Given the description of an element on the screen output the (x, y) to click on. 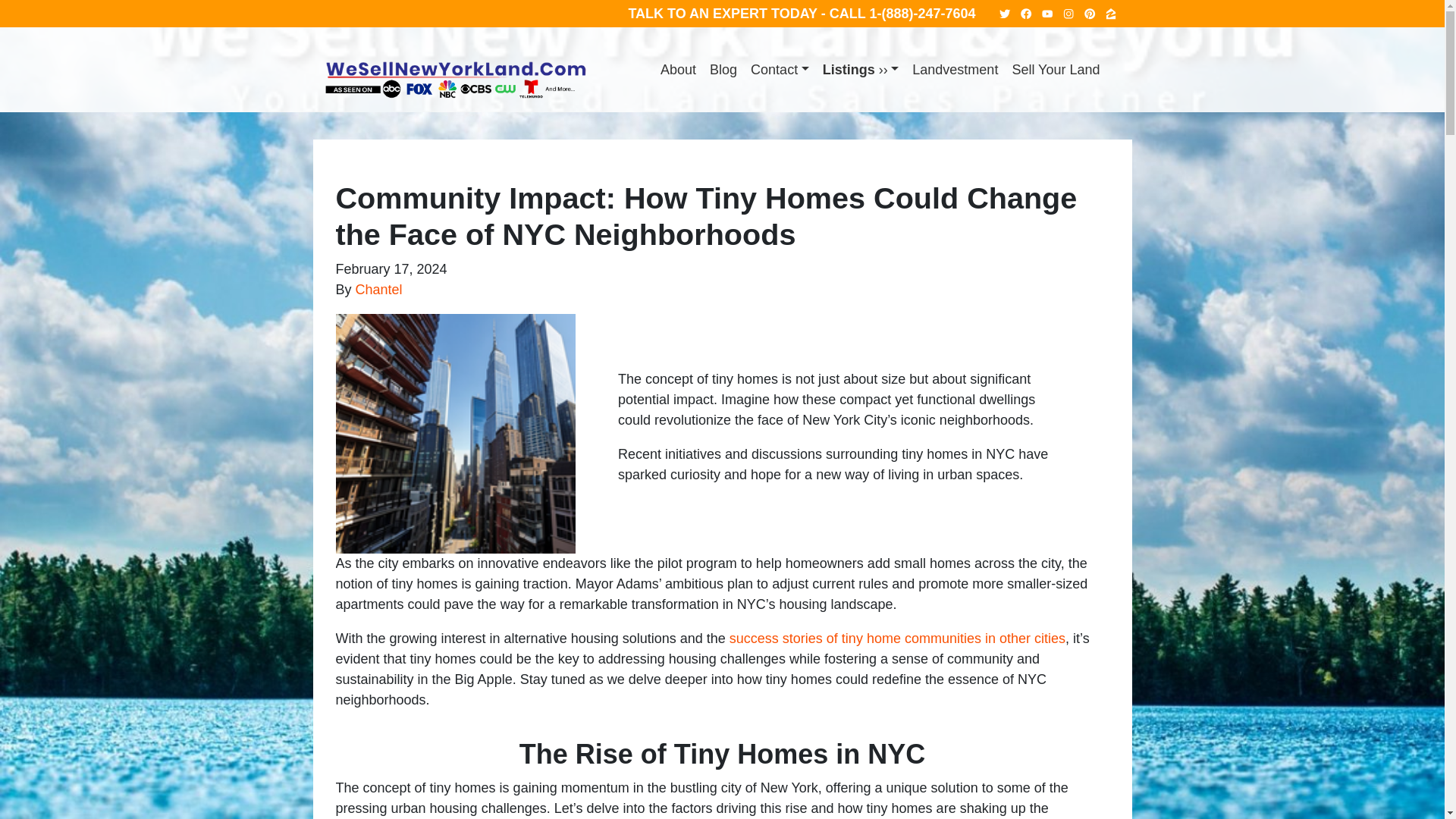
Chantel (379, 289)
INSTAGRAM (1068, 13)
none (678, 69)
success stories of tiny home communities in other cities (897, 638)
Contact (779, 69)
Sell Your Land (1055, 69)
Blog (723, 69)
About (678, 69)
YOUTUBE (1048, 13)
Sell Your Land (1055, 69)
